Given the description of an element on the screen output the (x, y) to click on. 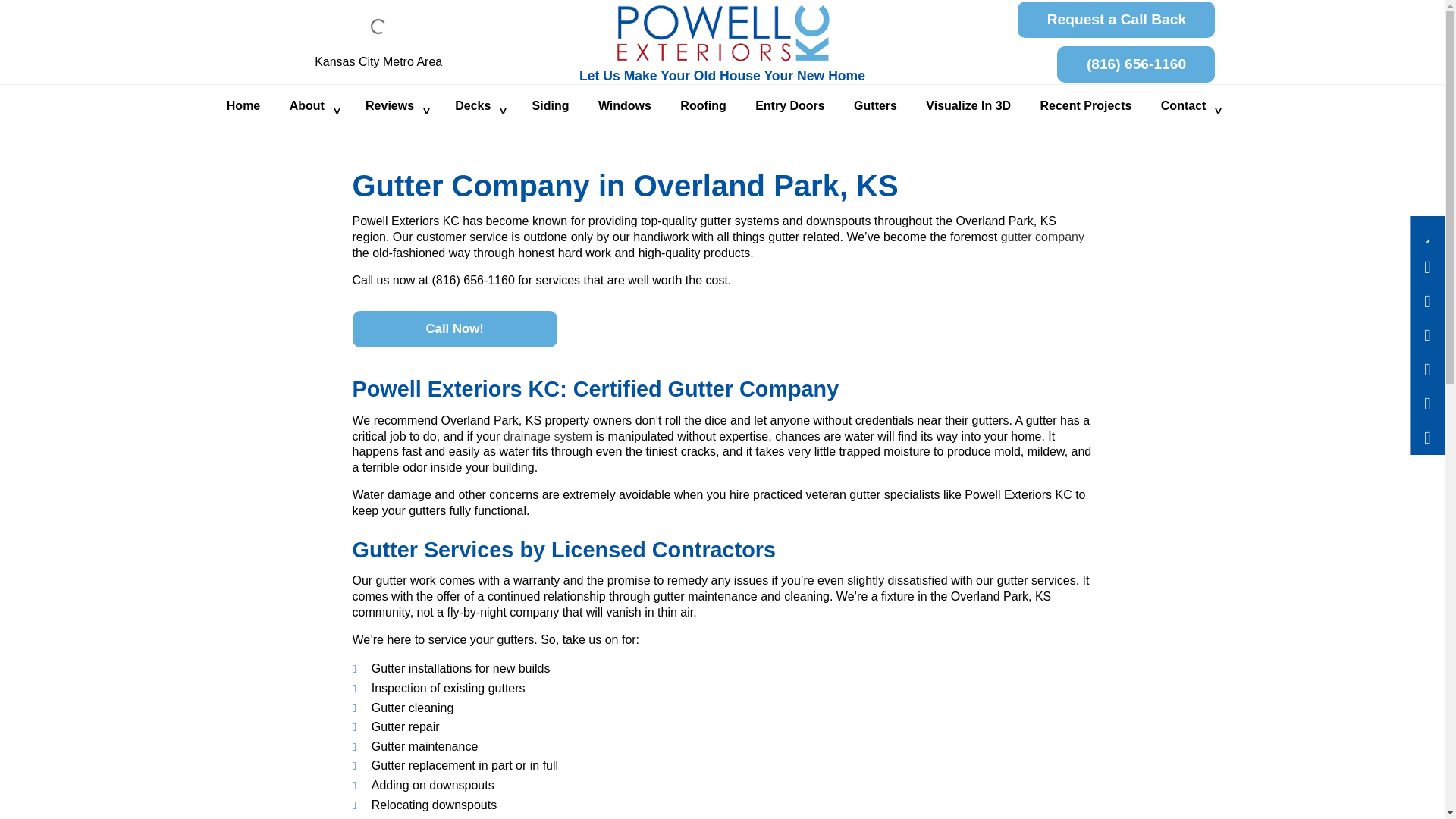
Reviews (395, 106)
About (312, 106)
Powell Exteriors KC (721, 32)
FAQ (312, 166)
Request a Call Back (1115, 19)
Learn more about gutter company (1042, 236)
Blog (312, 139)
Home (243, 106)
Learn more about drainage system (547, 436)
